Given the description of an element on the screen output the (x, y) to click on. 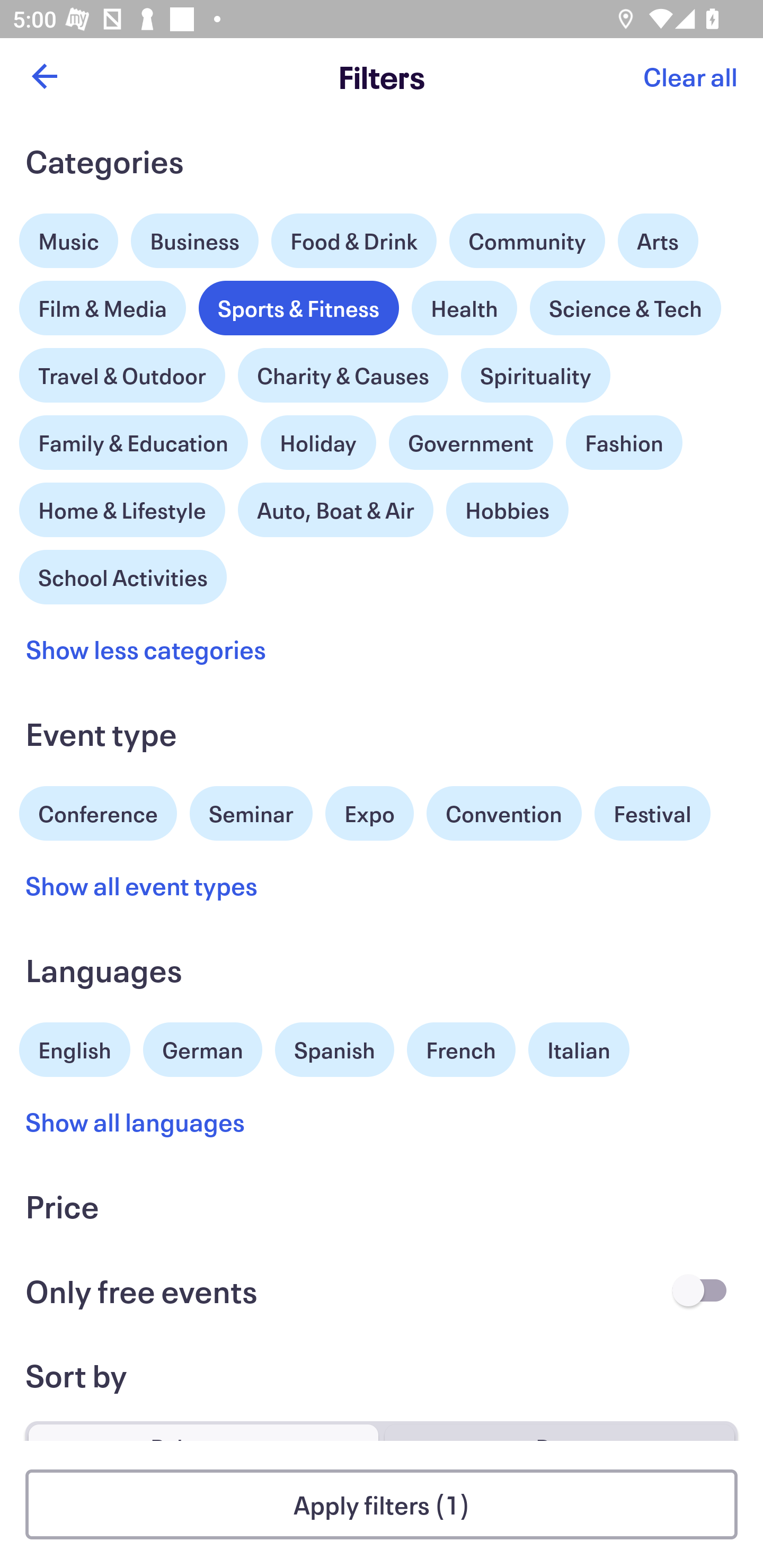
Back button (44, 75)
Clear all (690, 75)
Music (68, 235)
Business (194, 240)
Food & Drink (353, 240)
Community (527, 240)
Arts (658, 235)
Film & Media (102, 303)
Sports & Fitness (298, 307)
Health (464, 307)
Science & Tech (625, 307)
Travel & Outdoor (122, 370)
Charity & Causes (343, 375)
Spirituality (535, 375)
Family & Education (133, 442)
Holiday (318, 437)
Government (471, 442)
Fashion (624, 442)
Home & Lifestyle (122, 505)
Auto, Boat & Air (335, 509)
Hobbies (507, 509)
School Activities (122, 575)
Show less categories (145, 648)
Conference (98, 811)
Seminar (250, 813)
Expo (369, 813)
Convention (503, 813)
Festival (652, 813)
Show all event types (141, 884)
English (74, 1047)
German (202, 1047)
Spanish (334, 1049)
French (460, 1049)
Italian (578, 1049)
Show all languages (135, 1121)
Apply filters (1) (381, 1504)
